Given the description of an element on the screen output the (x, y) to click on. 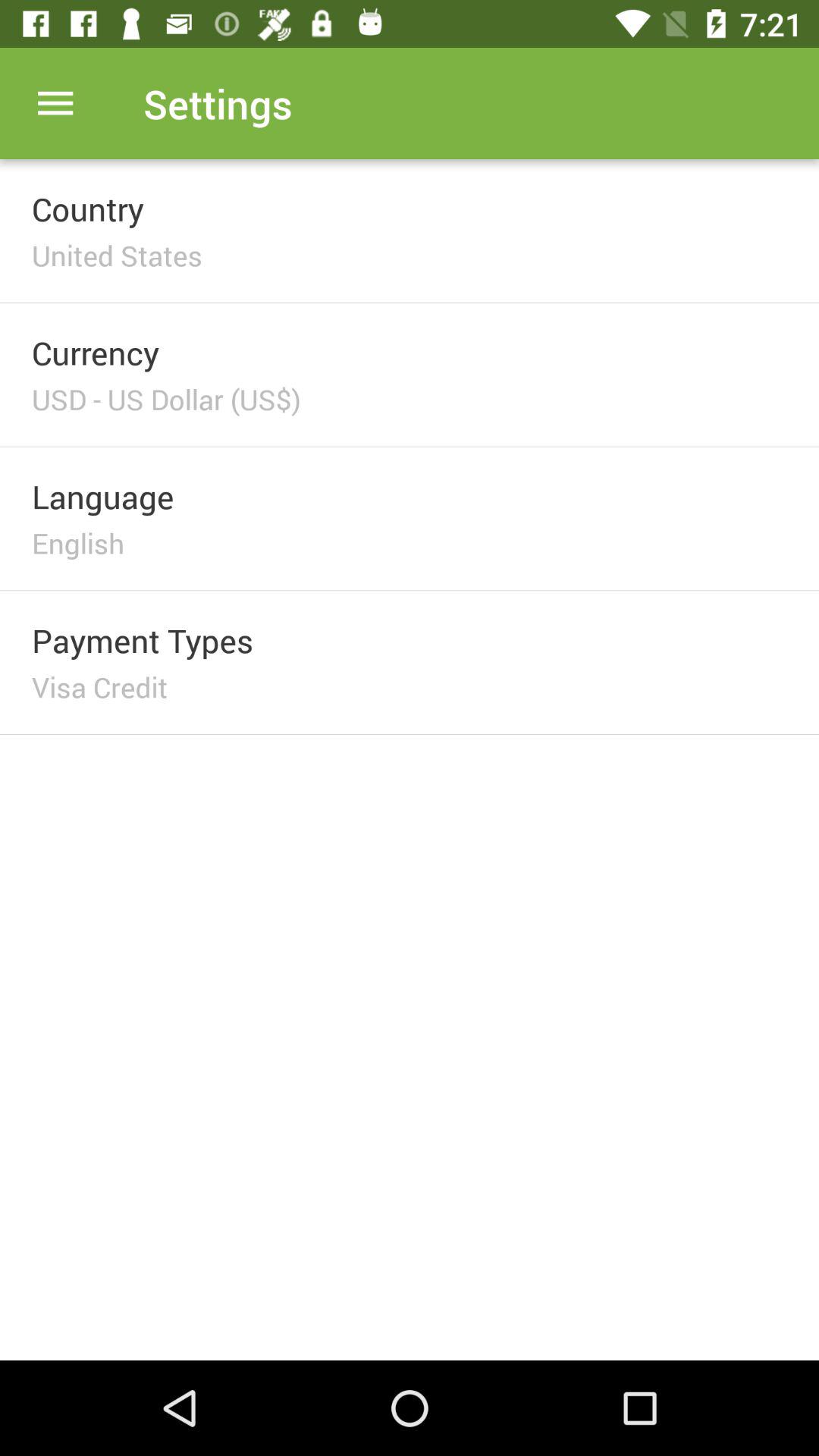
open the icon above country (55, 103)
